Given the description of an element on the screen output the (x, y) to click on. 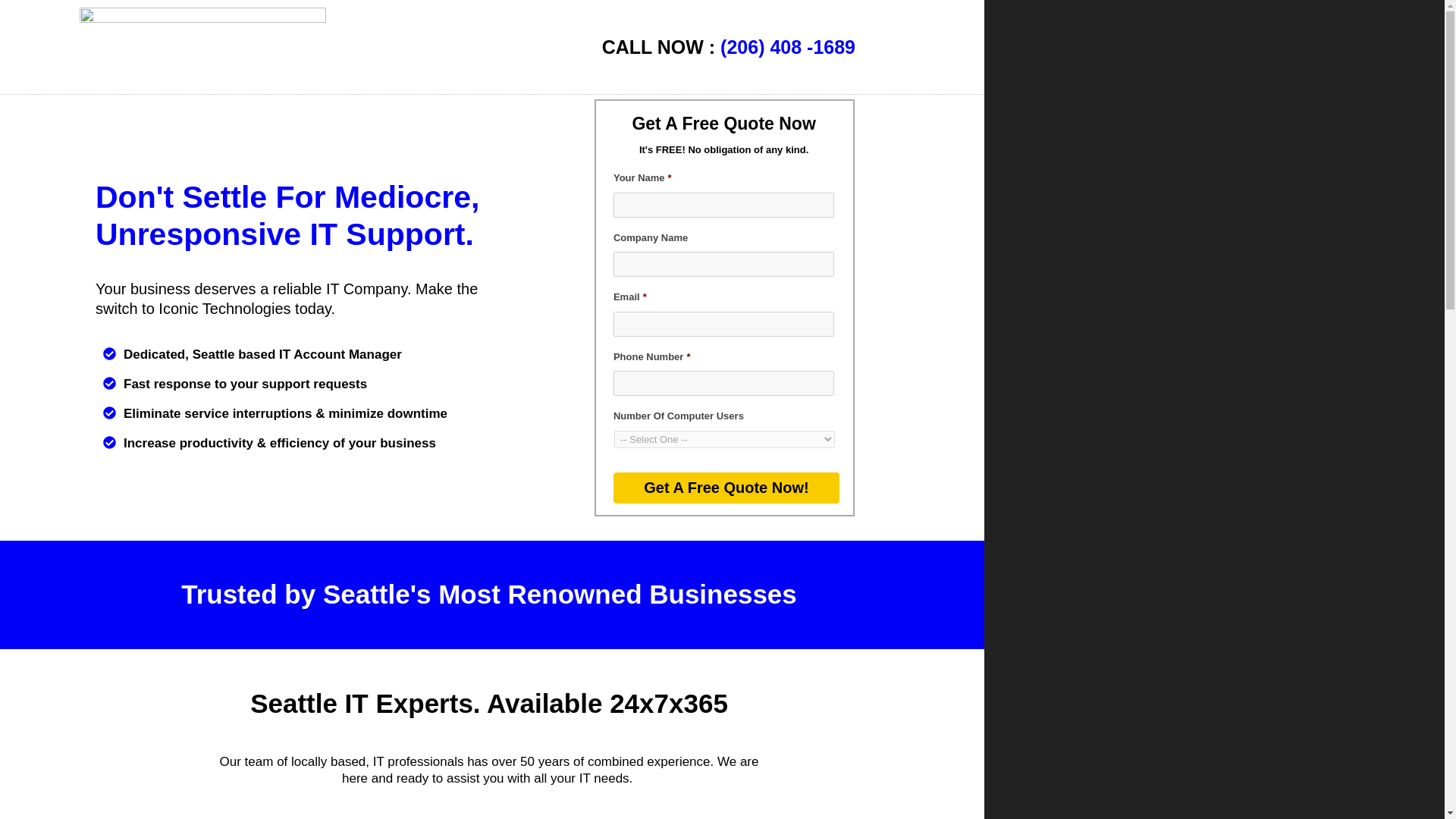
Get A Free Quote Now! (726, 487)
LOGO-1 (203, 46)
Get A Free Quote Now! (726, 487)
